Given the description of an element on the screen output the (x, y) to click on. 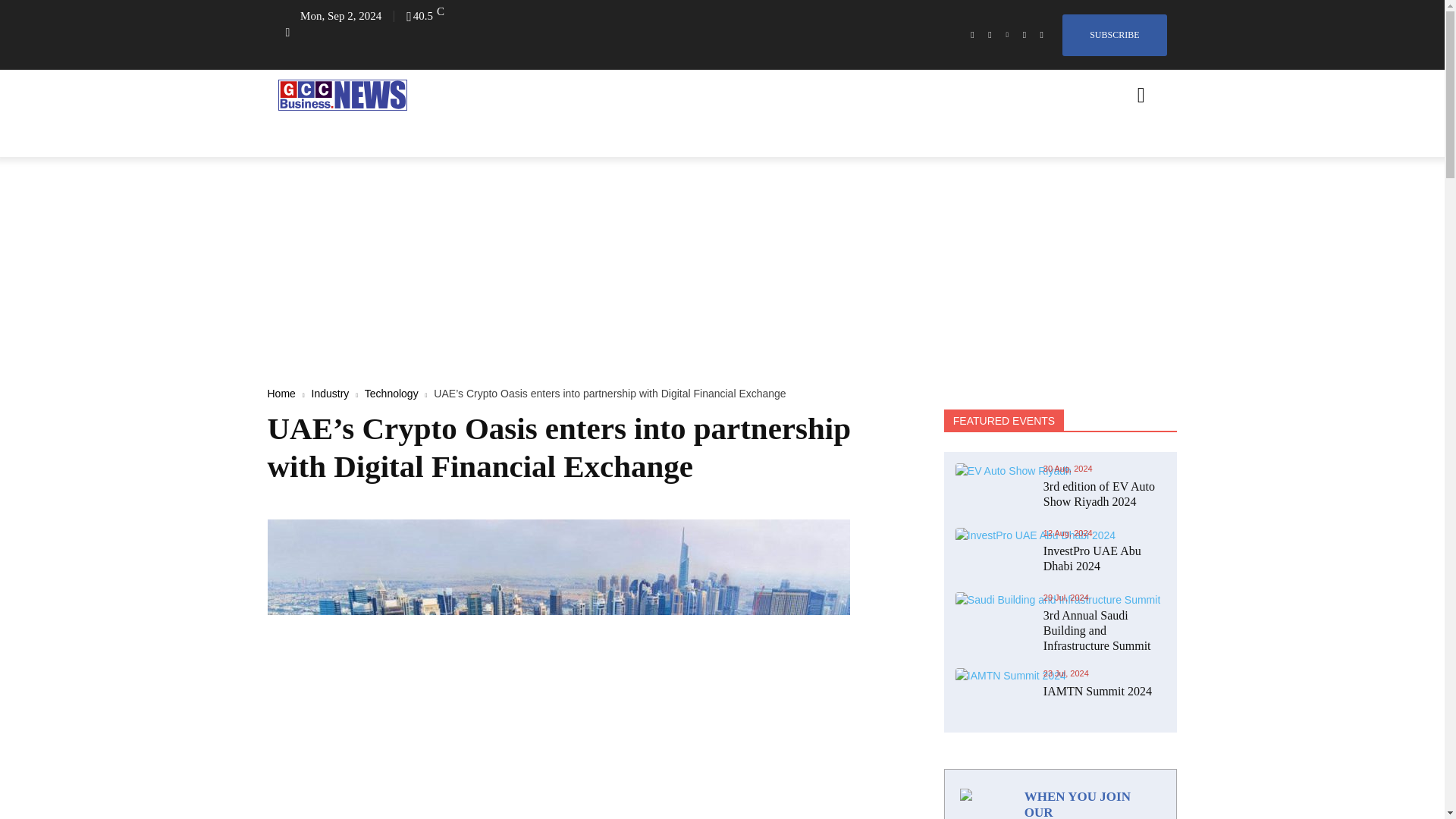
Linkedin (1007, 35)
Youtube (1040, 35)
Twitter (1024, 35)
SUBSCRIBE (1114, 34)
Instagram (989, 35)
Facebook (972, 35)
Subscribe (1114, 34)
